Given the description of an element on the screen output the (x, y) to click on. 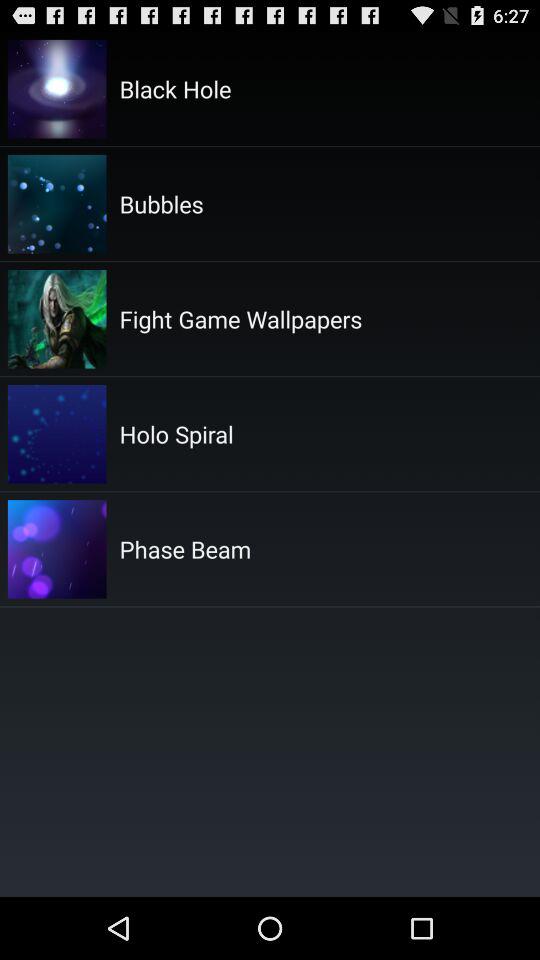
swipe until black hole app (175, 88)
